Given the description of an element on the screen output the (x, y) to click on. 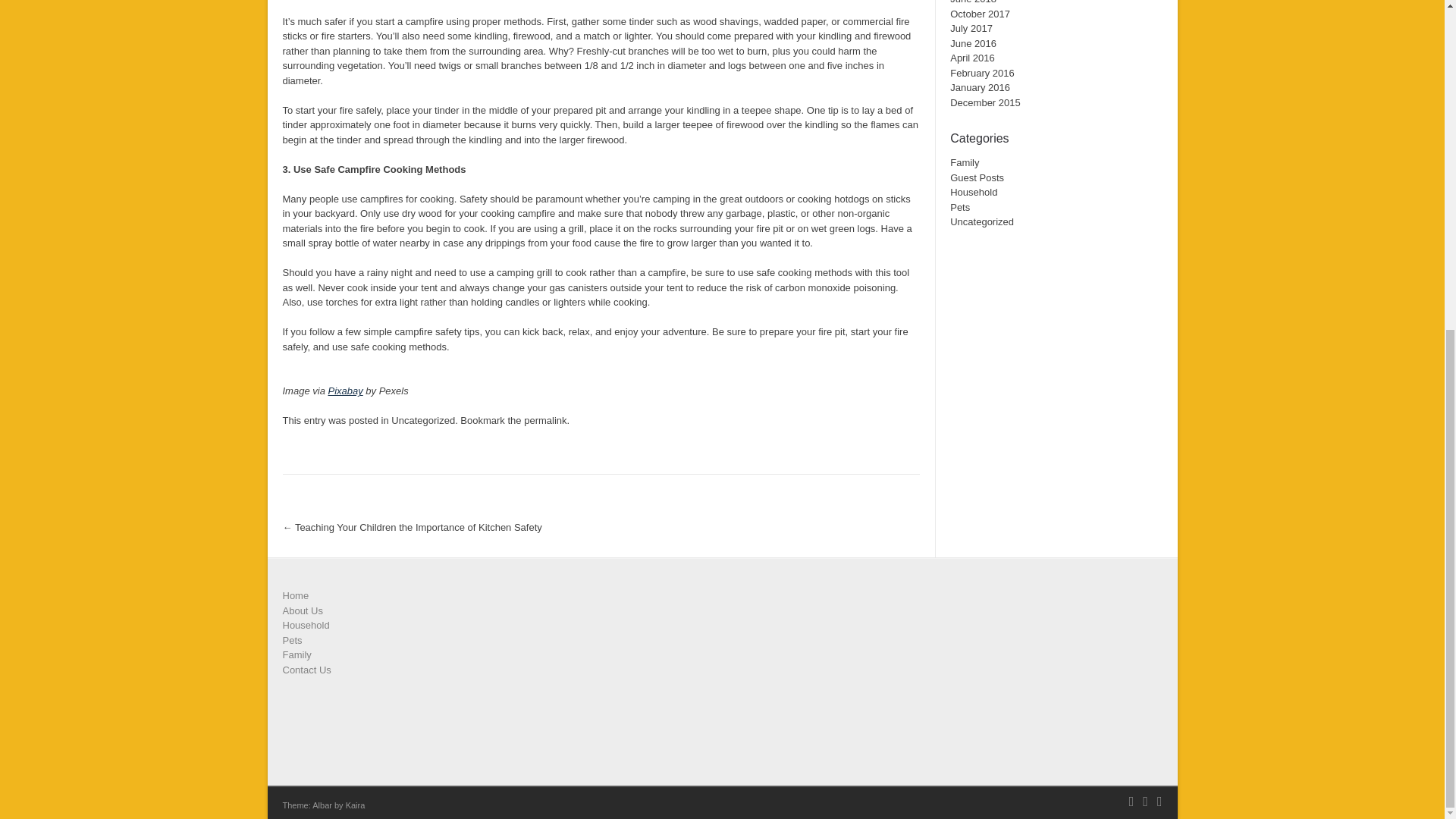
February 2016 (982, 72)
October 2017 (980, 13)
Home (295, 595)
Uncategorized (422, 419)
Pixabay (344, 390)
Family (964, 162)
Household (973, 192)
July 2017 (971, 28)
Guest Posts (977, 177)
